Given the description of an element on the screen output the (x, y) to click on. 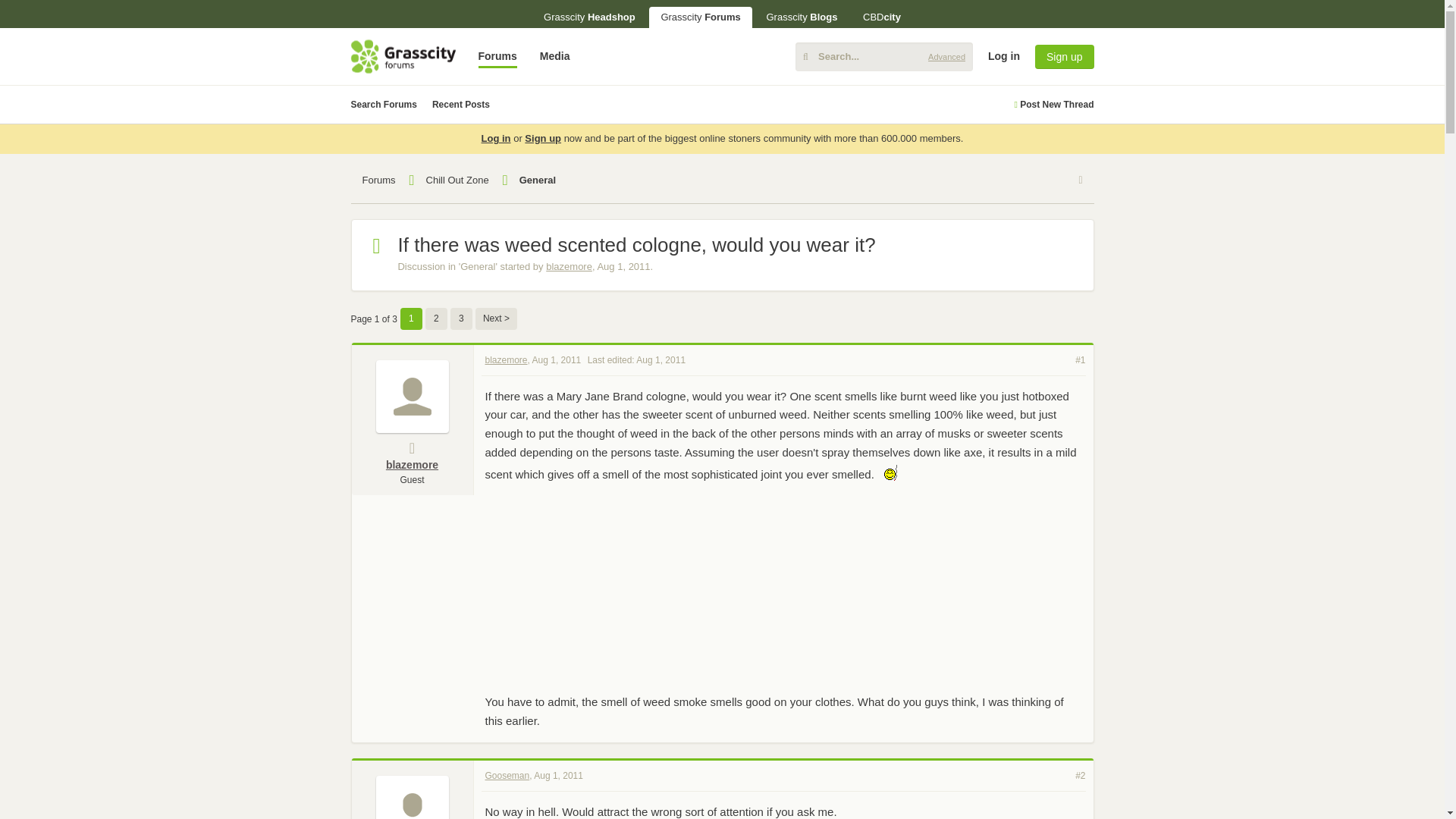
Grasscity Forums (700, 16)
Smoking    :smoke: (886, 471)
Log in (496, 138)
Forums (497, 56)
Advanced (946, 56)
Sign up (1064, 56)
Log in (1316, 172)
Permalink (556, 359)
CBDcity (881, 16)
Search Forums (383, 104)
Grasscity Headshop (589, 16)
Aug 1, 2011 at 11:23 AM (622, 266)
Log in (1004, 56)
Permalink (1079, 359)
Post New Thread (1053, 104)
